Given the description of an element on the screen output the (x, y) to click on. 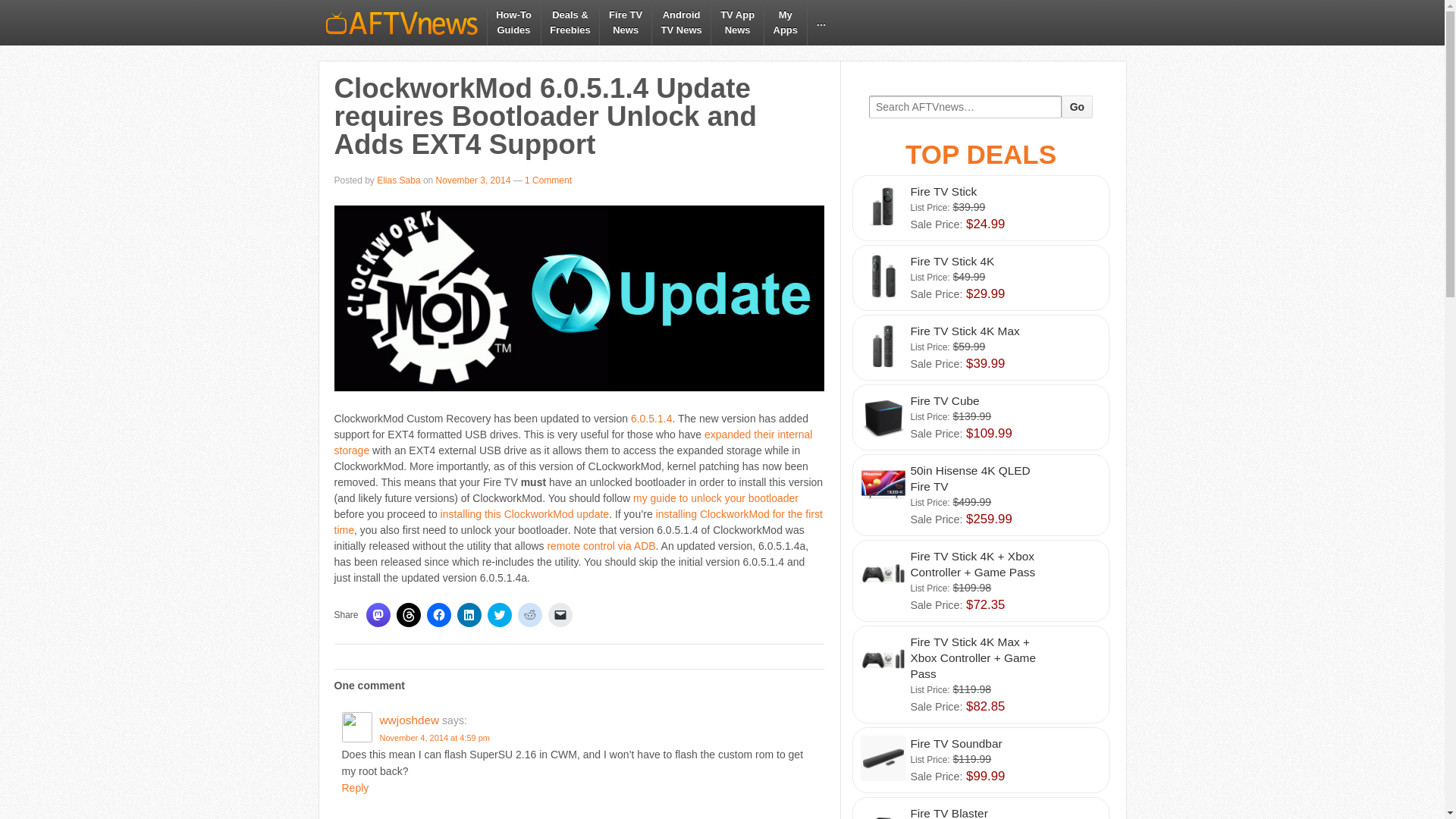
expanded their internal storage (572, 442)
6.0.5.1.4 (651, 418)
Download the latest version of ClockworkMod Recovery (651, 418)
remote control via ADB (601, 545)
installing this ClockworkMod update (525, 513)
installing ClockworkMod for the first time (577, 521)
Reply (354, 787)
Click to share on Twitter (499, 614)
